Given the description of an element on the screen output the (x, y) to click on. 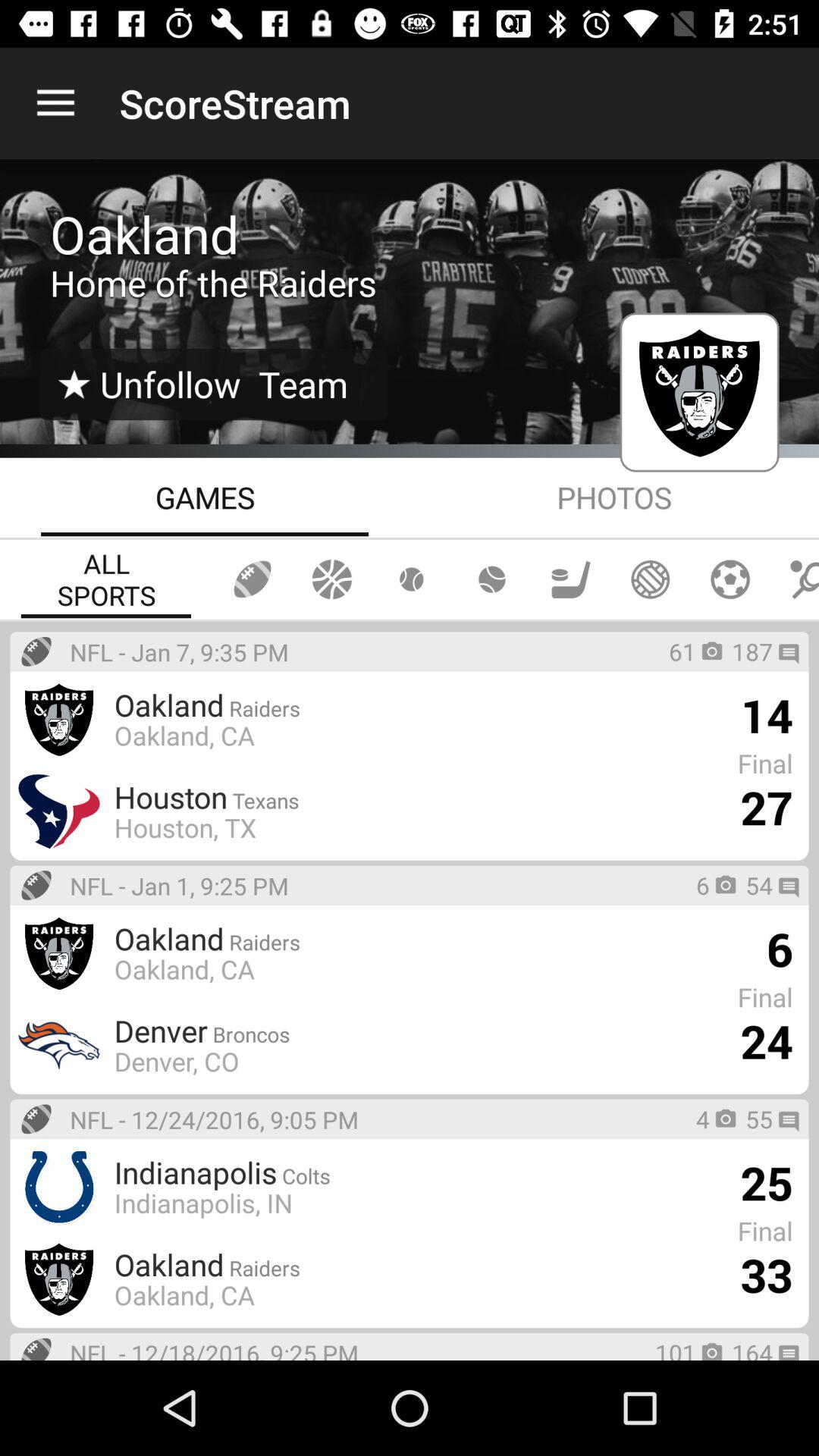
swipe to the 54 item (758, 885)
